Given the description of an element on the screen output the (x, y) to click on. 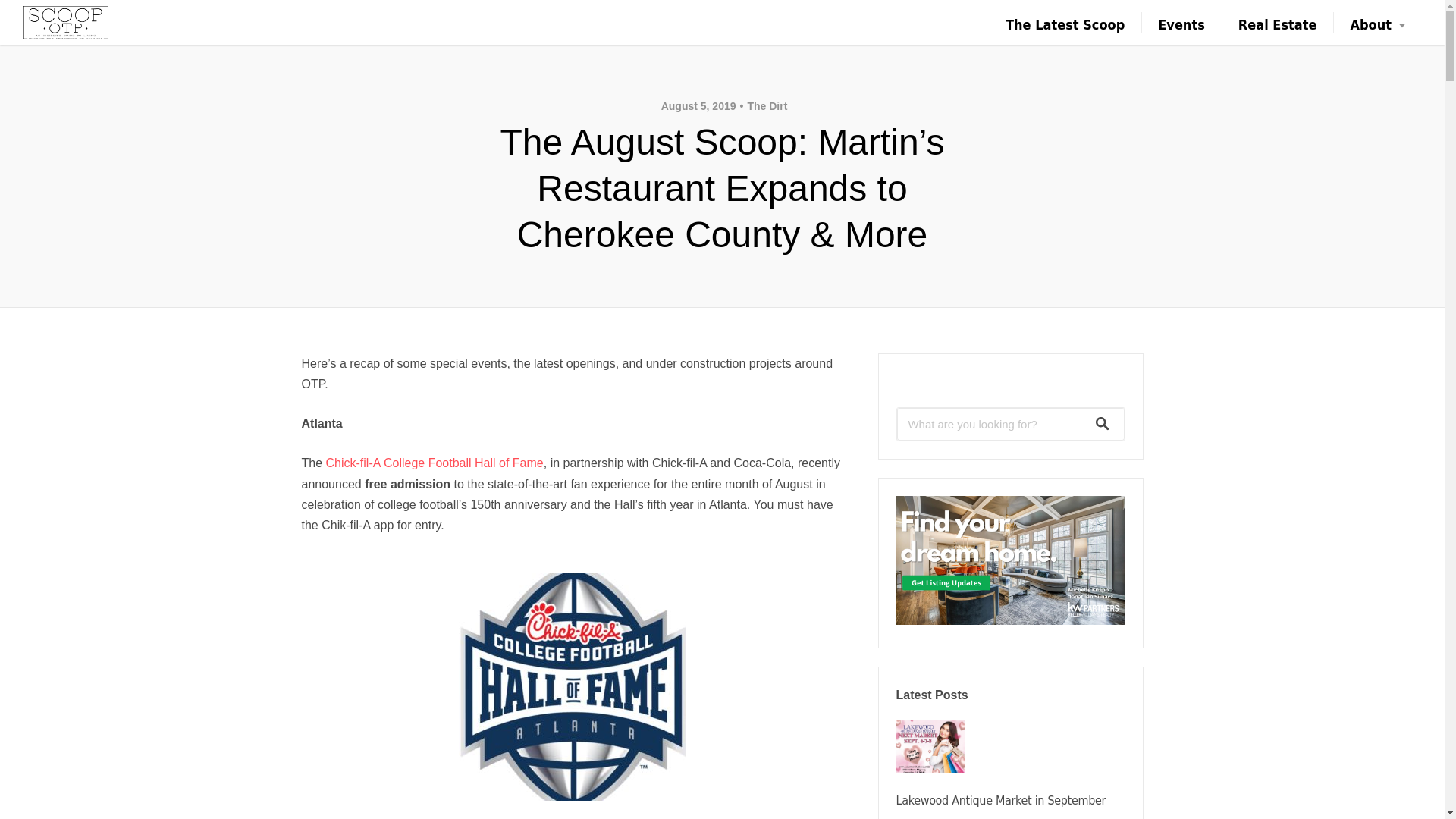
Real Estate (1277, 24)
August 5, 2019 (698, 105)
Events (1181, 24)
The Dirt (763, 105)
Chick-fil-A College Football Hall of Fame (434, 462)
About (1377, 24)
The Latest Scoop (1064, 24)
